Given the description of an element on the screen output the (x, y) to click on. 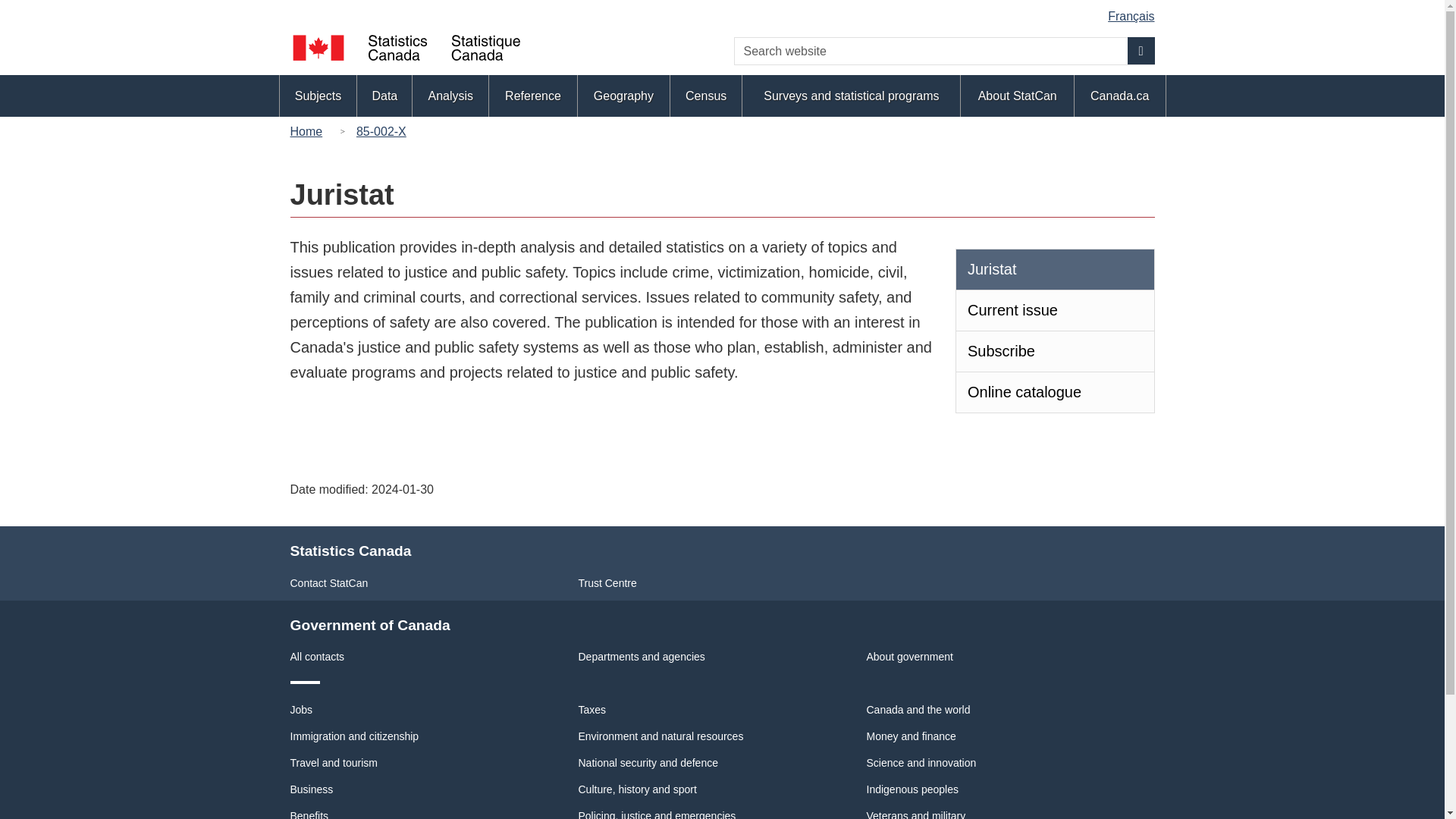
Immigration and citizenship (354, 736)
Culture, history and sport (636, 788)
Business (311, 788)
Surveys and statistical programs (850, 96)
Canada.ca (1120, 96)
All contacts (316, 656)
Benefits (309, 814)
Subjects (317, 96)
Canada and the world (917, 709)
Departments and agencies (641, 656)
Contact StatCan (328, 582)
Search (1140, 50)
Data (384, 96)
Reference (532, 96)
Subscribe (1054, 351)
